Given the description of an element on the screen output the (x, y) to click on. 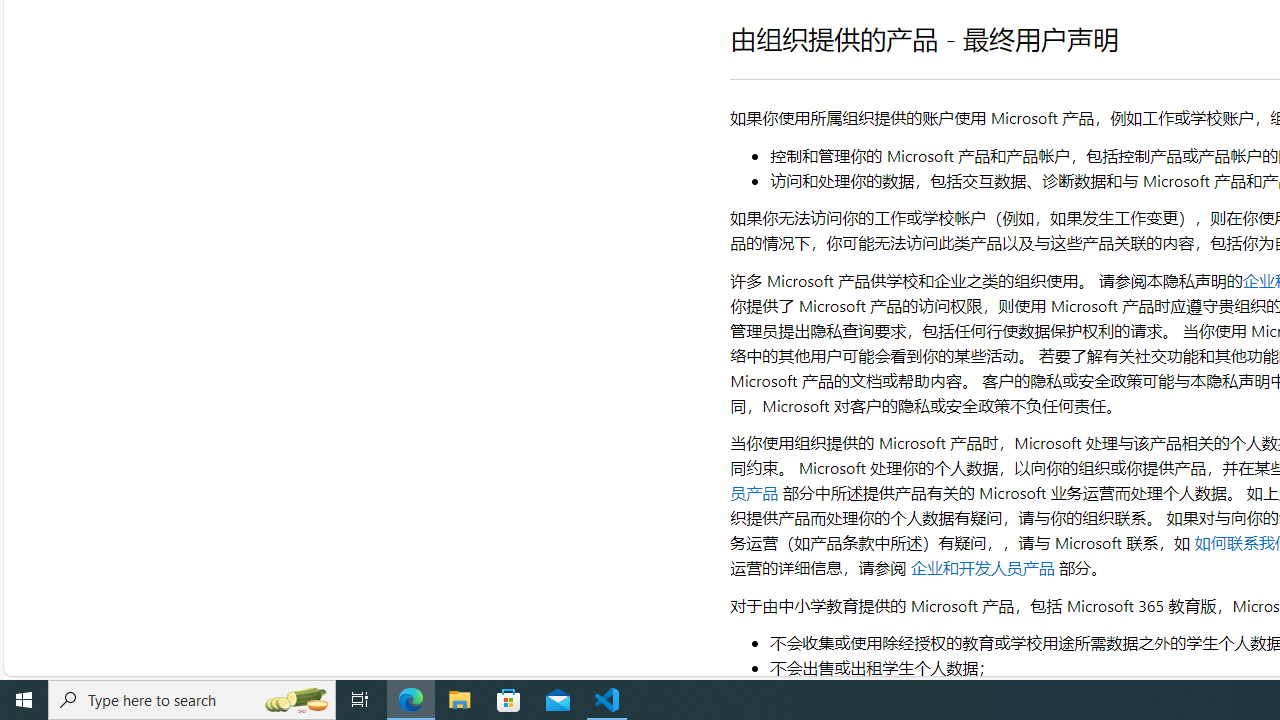
Visual Studio Code - 1 running window (607, 699)
Type here to search (191, 699)
Microsoft Edge - 1 running window (411, 699)
Microsoft Store (509, 699)
File Explorer (460, 699)
Start (24, 699)
Task View (359, 699)
Search highlights icon opens search home window (295, 699)
